Given the description of an element on the screen output the (x, y) to click on. 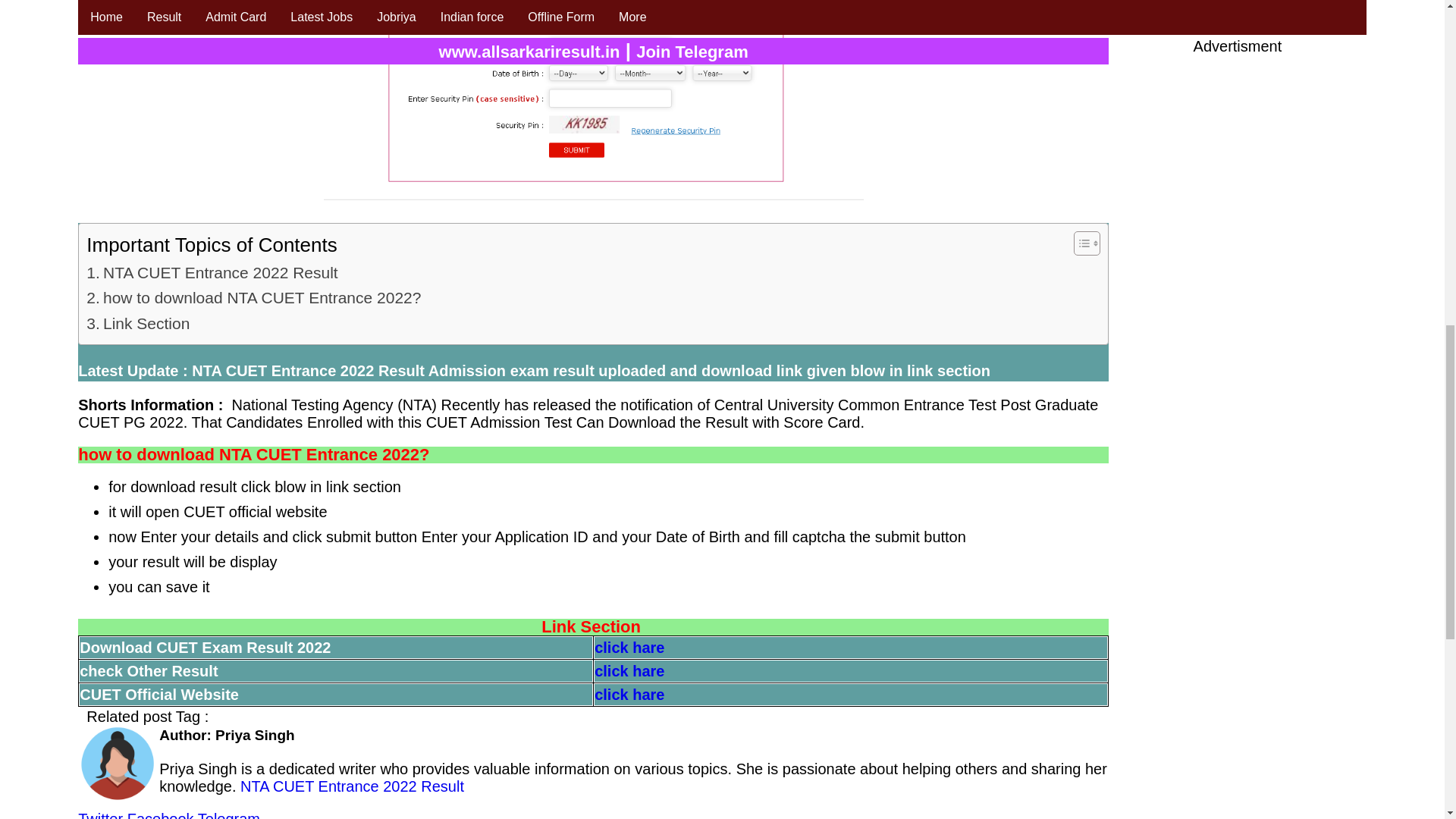
how to download NTA CUET Entrance 2022? (252, 298)
Link Section  (139, 323)
how to download NTA CUET Entrance 2022? (252, 298)
click hare (628, 670)
click hare (628, 694)
Facebook (160, 814)
NTA CUET Entrance 2022 Result (349, 786)
NTA CUET Entrance 2022 Result  (213, 272)
Twitter (100, 814)
click hare (628, 647)
Telegram (229, 814)
